Given the description of an element on the screen output the (x, y) to click on. 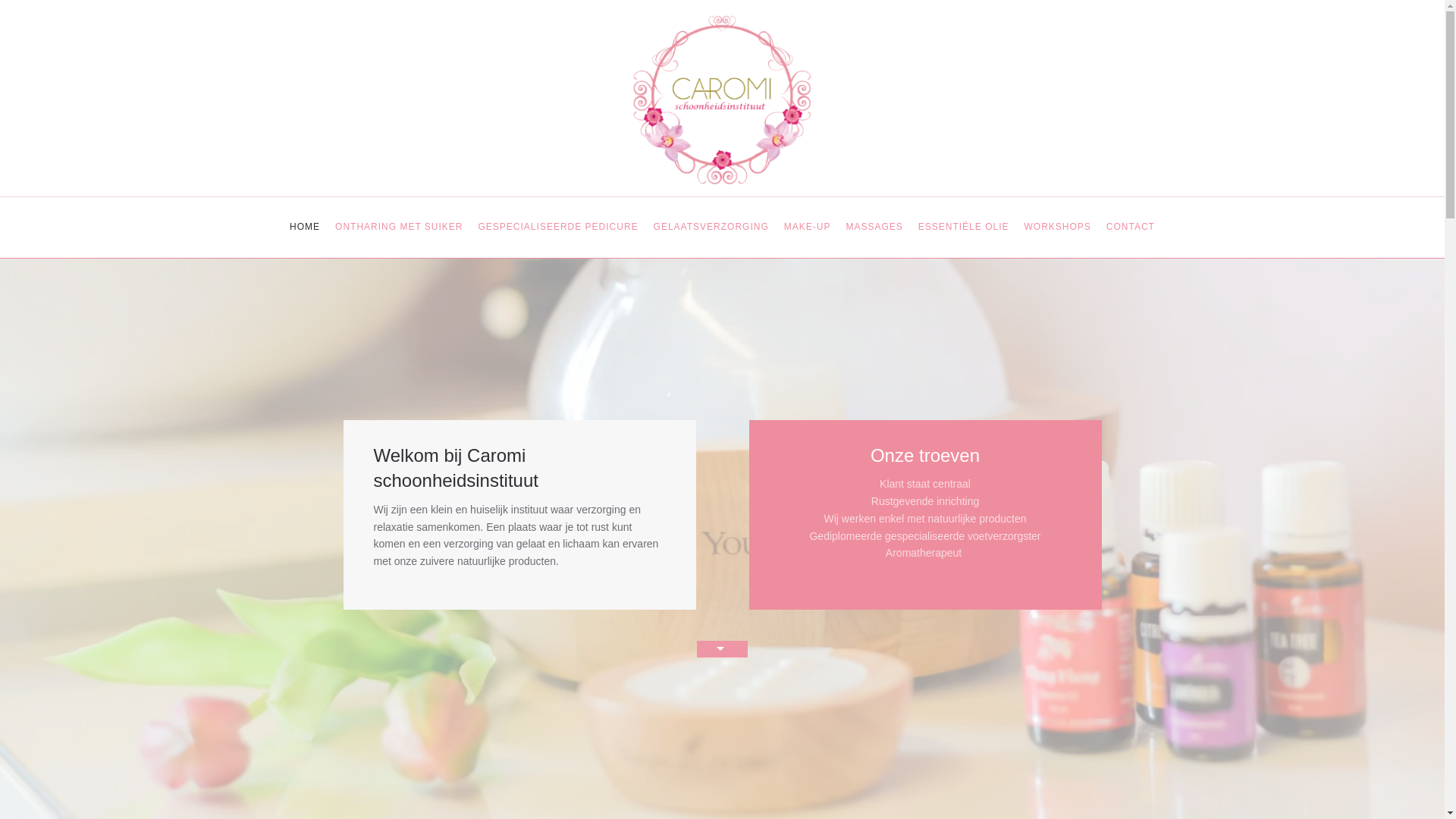
WORKSHOPS Element type: text (1057, 227)
CONTACT Element type: text (1130, 227)
GELAATSVERZORGING Element type: text (711, 227)
HOME Element type: text (304, 227)
GESPECIALISEERDE PEDICURE Element type: text (558, 227)
MAKE-UP Element type: text (807, 227)
ONTHARING MET SUIKER Element type: text (398, 227)
MASSAGES Element type: text (873, 227)
